Given the description of an element on the screen output the (x, y) to click on. 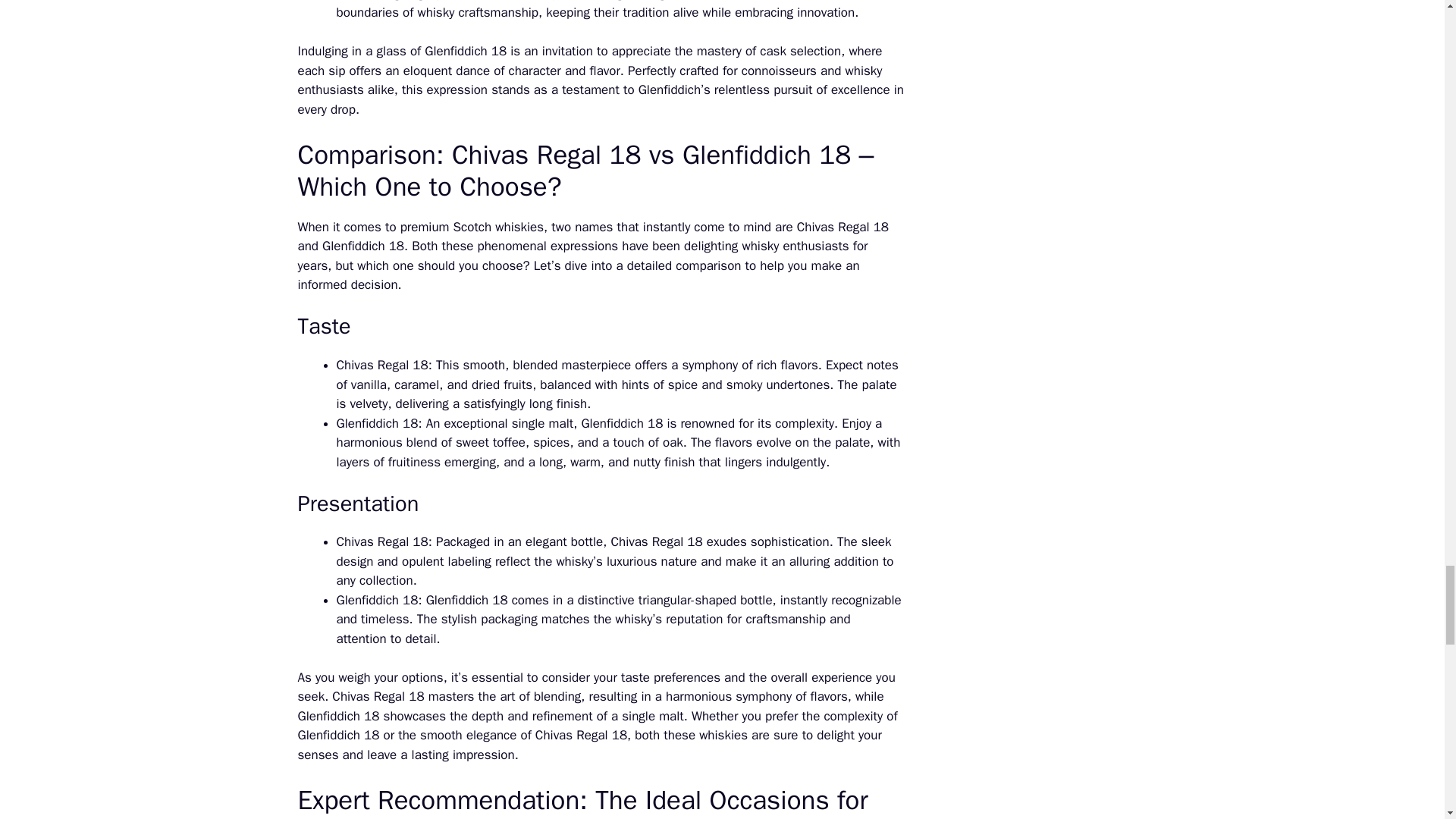
Whiskey-Loving Dads? Discover the Perfect Top 12 Gifts! (508, 423)
exceptional single malt (508, 423)
